Given the description of an element on the screen output the (x, y) to click on. 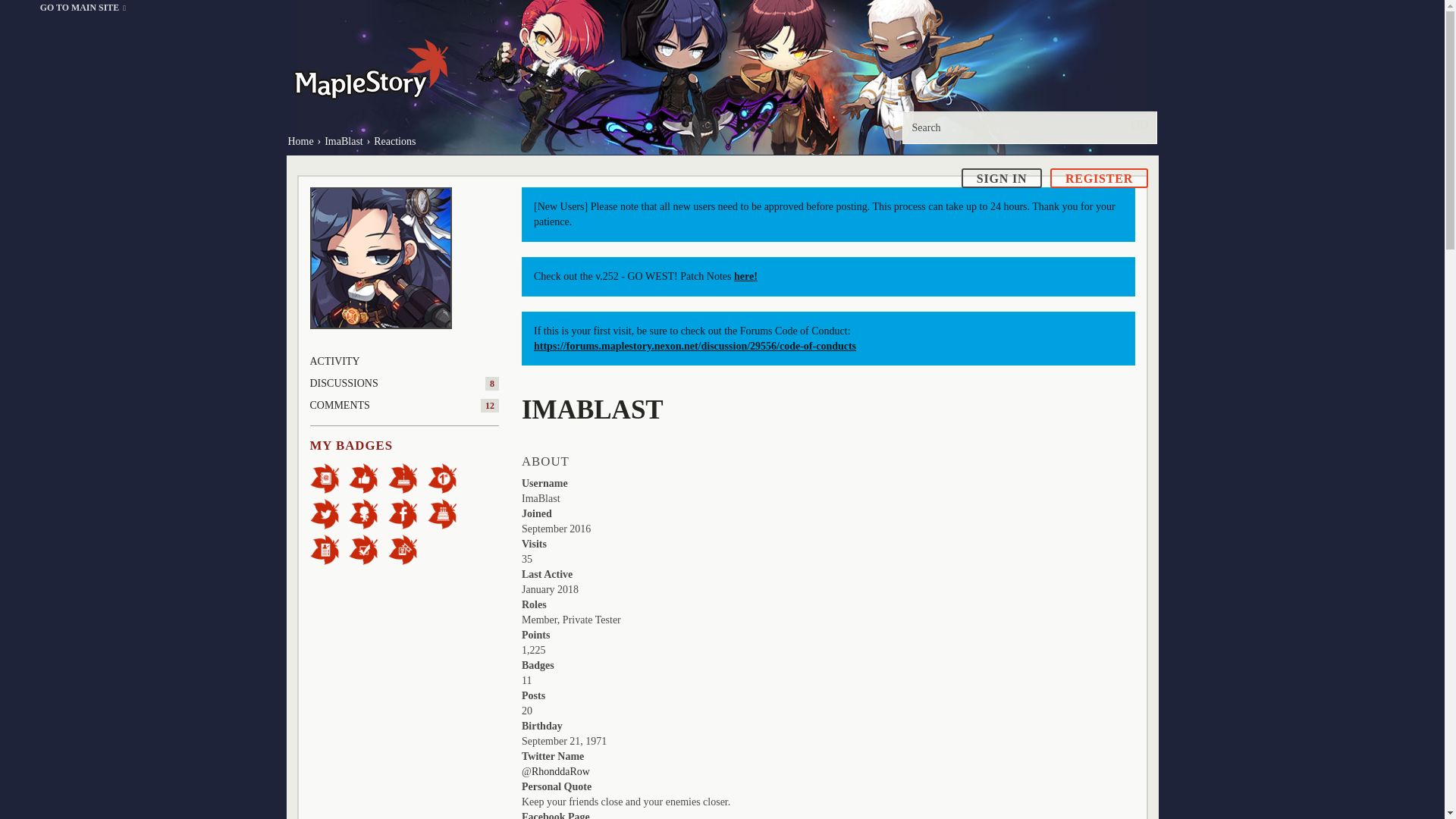
Liked Elsewhere (408, 513)
First Year (408, 477)
Personality (368, 513)
January 25, 2018  9:30PM (549, 589)
Happy Birthday! (447, 513)
Profiler (328, 548)
Something to Show (408, 548)
September 21, 2016 12:10PM (556, 528)
First Like! (368, 477)
I Voted! (368, 548)
Called them out (328, 477)
Go (1139, 124)
